Given the description of an element on the screen output the (x, y) to click on. 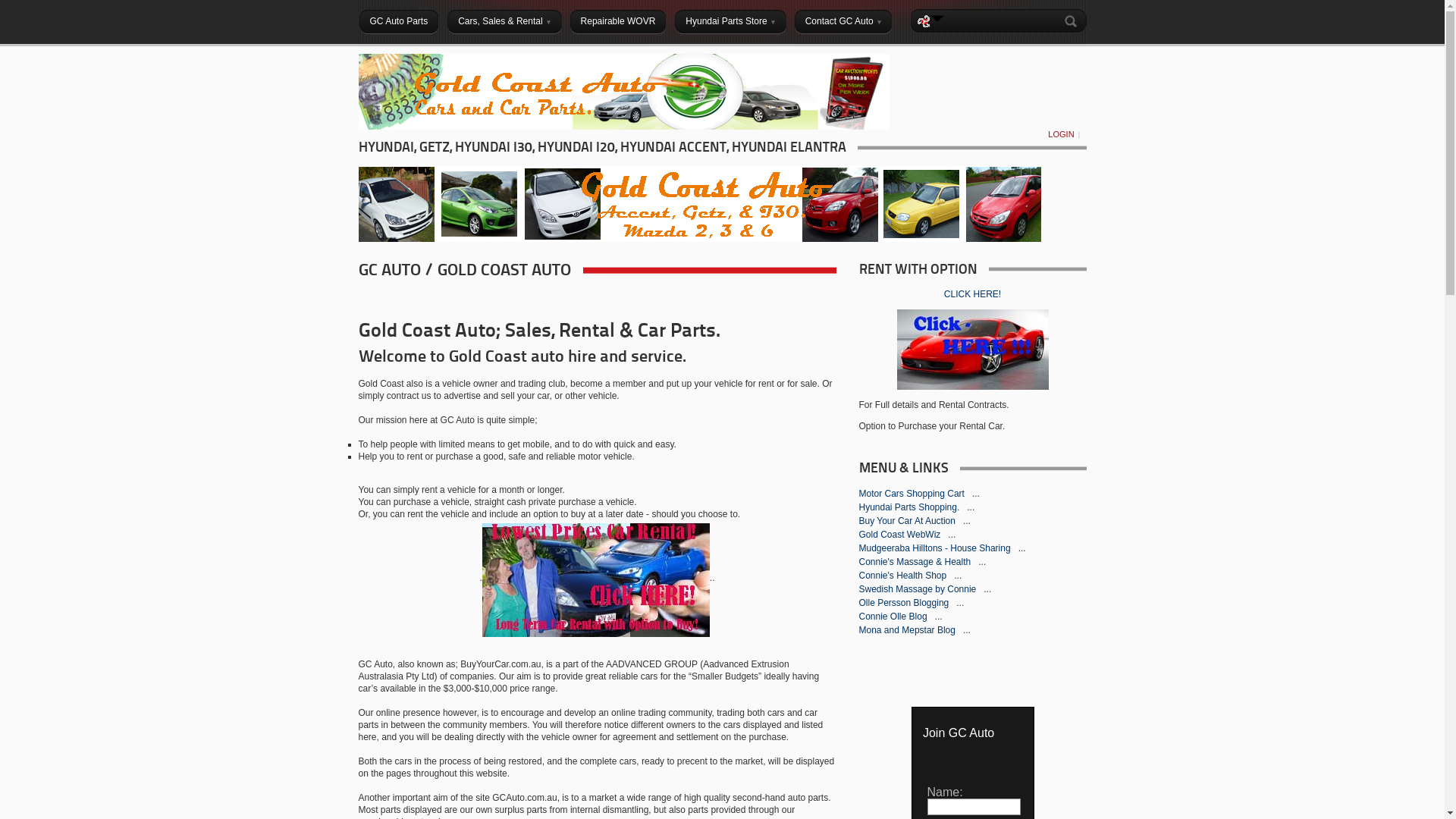
Mona and Mepstar Blog Element type: text (907, 629)
... Element type: text (975, 493)
Gold Coast auto and car parts Element type: hover (622, 126)
Swedish Massage by Connie Element type: text (918, 588)
... Element type: text (957, 575)
Hyundai Parts Shopping. Element type: text (909, 507)
... Element type: text (987, 588)
Mudgeeraba Hilltons - House Sharing Element type: text (935, 547)
Select the search type Element type: hover (937, 18)
... Element type: text (970, 507)
Connie's Health Shop Element type: text (903, 575)
Olle Persson Blogging Element type: text (904, 602)
... Element type: text (951, 534)
Motor Cars Shopping Cart Element type: text (912, 493)
Repairable WOVR Element type: text (618, 20)
CLICK HERE! Element type: text (972, 293)
LOGIN Element type: text (1060, 133)
Gold Coast WebWiz Element type: text (900, 534)
Connie's Massage & Health Element type: text (915, 561)
Rental & Options Element type: hover (595, 578)
Hyundai Parts Store Element type: text (729, 20)
GC Auto Parts Element type: text (398, 20)
Connie Olle Blog Element type: text (893, 616)
... Element type: text (1022, 547)
Contact GC Auto Element type: text (842, 20)
... Element type: text (959, 602)
Search Element type: text (1072, 21)
Buy Your Car At Auction Element type: text (907, 520)
... Element type: text (981, 561)
... Element type: text (966, 520)
... Element type: text (938, 616)
Cars, Sales & Rental Element type: text (503, 20)
... Element type: text (966, 629)
